Given the description of an element on the screen output the (x, y) to click on. 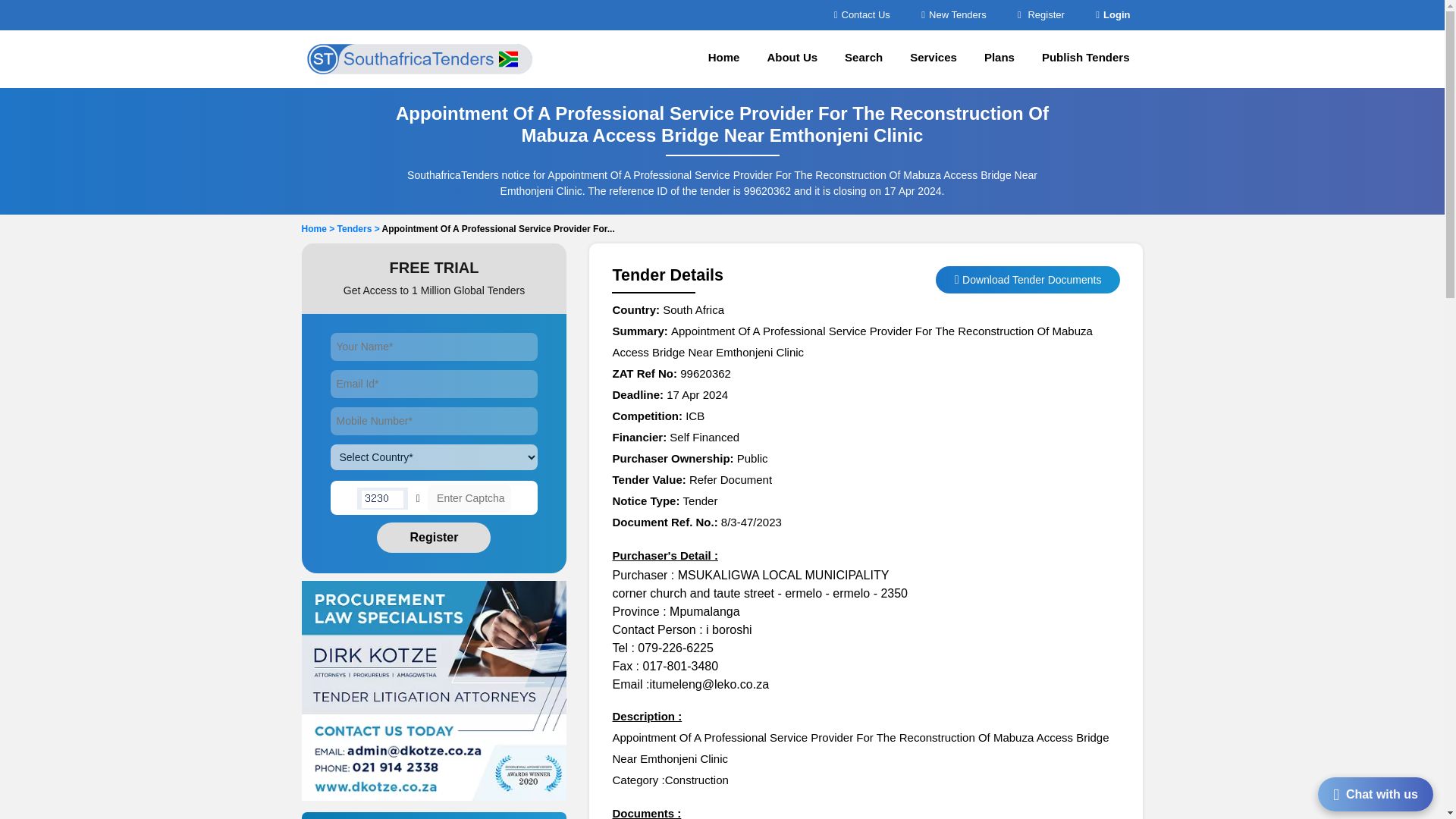
Register (1040, 14)
Publish Tenders (1084, 58)
Login (1112, 14)
Search (863, 58)
Services (933, 58)
New Tenders (953, 14)
Home (724, 58)
Download Tender Documents (1031, 279)
Plans (999, 58)
Register (433, 537)
